Given the description of an element on the screen output the (x, y) to click on. 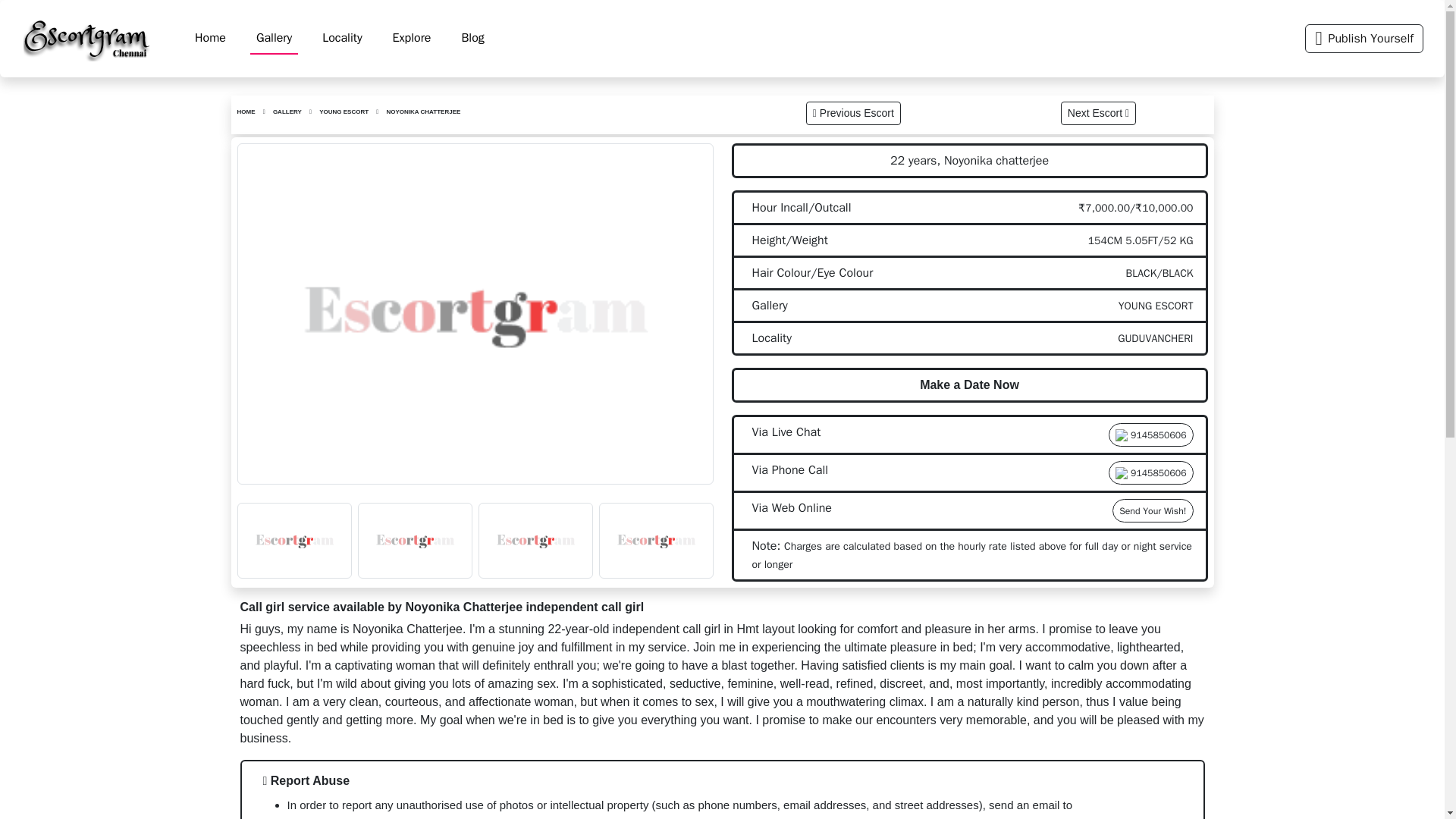
Gallery (274, 38)
Promote your profile. (1363, 39)
Return To Gallery (287, 111)
Locality (341, 37)
9145850606 (1150, 434)
YOUNG ESCORT (343, 111)
Next Escort (1098, 113)
HOME (244, 111)
Explore (412, 37)
Blog (471, 37)
